Given the description of an element on the screen output the (x, y) to click on. 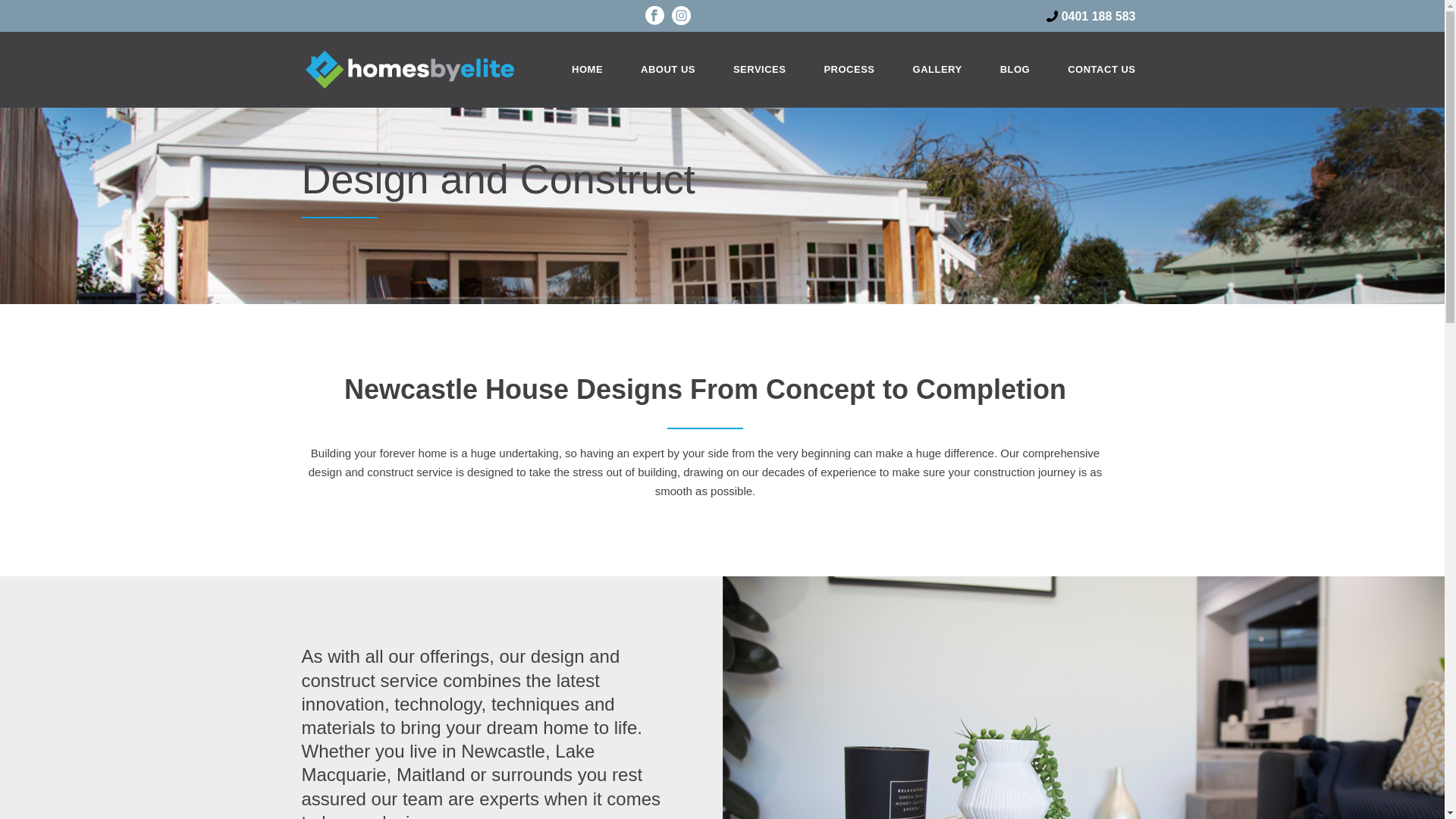
CONTACT US Element type: text (1101, 69)
0401 188 583 Element type: text (1098, 15)
Follow Us  facebook Element type: hover (654, 18)
GALLERY Element type: text (937, 69)
BLOG Element type: text (1015, 69)
HOME Element type: text (586, 69)
Follow Us  instagram Element type: hover (680, 18)
SERVICES Element type: text (759, 69)
PROCESS Element type: text (848, 69)
ABOUT US Element type: text (667, 69)
